Given the description of an element on the screen output the (x, y) to click on. 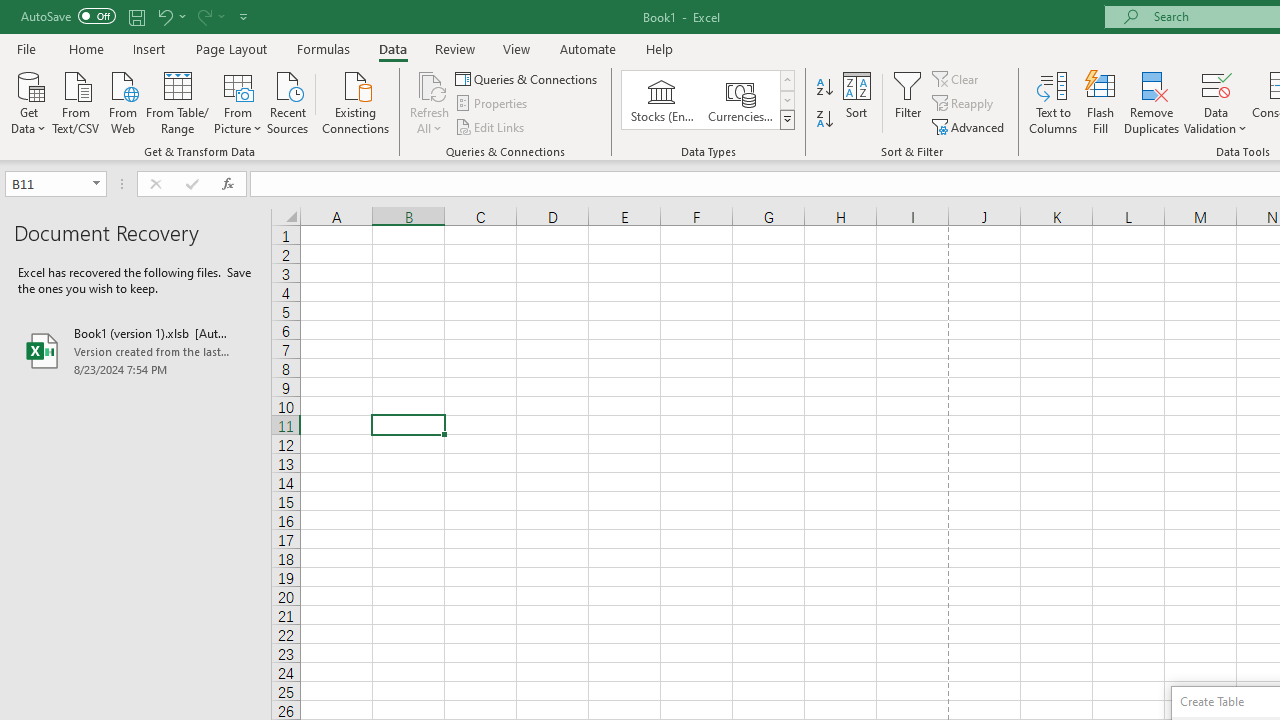
Filter (908, 102)
Sort A to Z (824, 87)
From Picture (238, 101)
Sort Z to A (824, 119)
From Table/Range (177, 101)
Properties (492, 103)
